Given the description of an element on the screen output the (x, y) to click on. 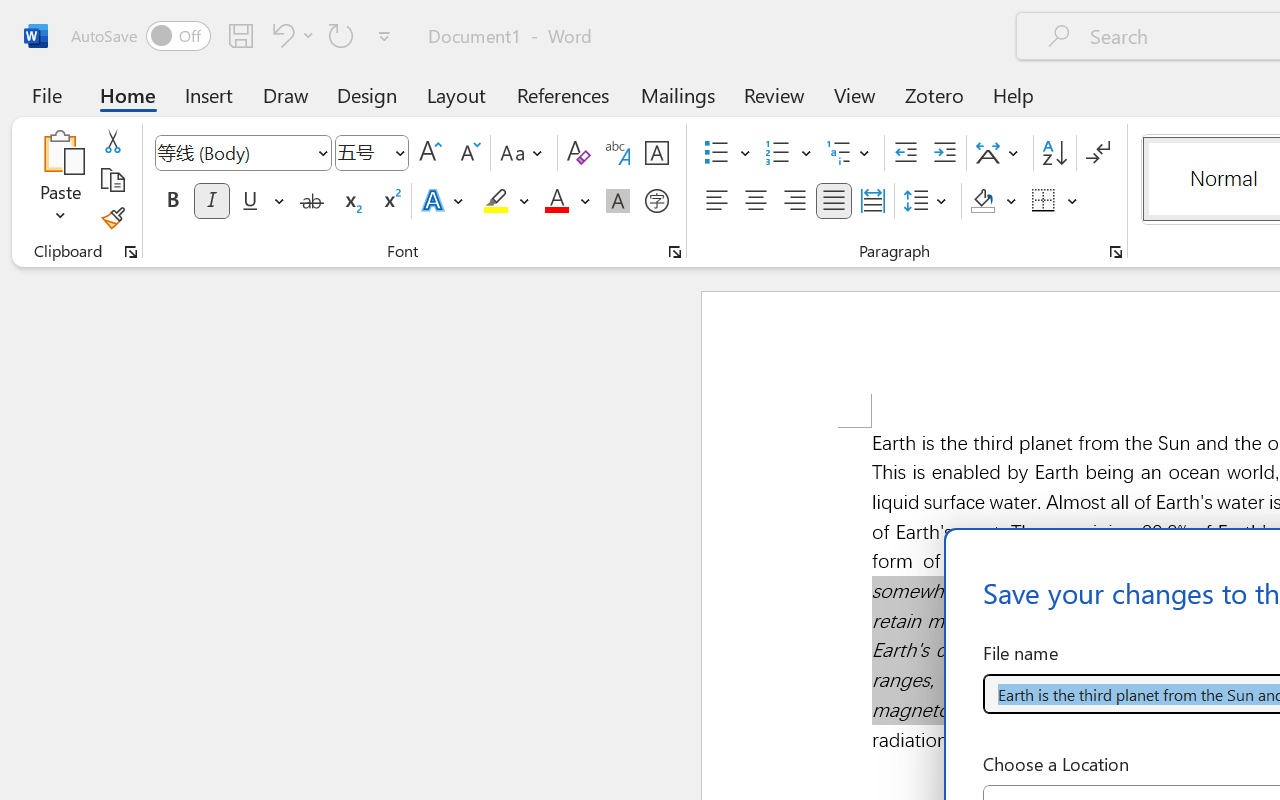
Font Color Red (556, 201)
Bold (172, 201)
Open (399, 152)
Decrease Indent (906, 153)
Shading RGB(0, 0, 0) (982, 201)
Font Color (567, 201)
Sort... (1054, 153)
Paragraph... (1115, 252)
Text Highlight Color Yellow (495, 201)
